Given the description of an element on the screen output the (x, y) to click on. 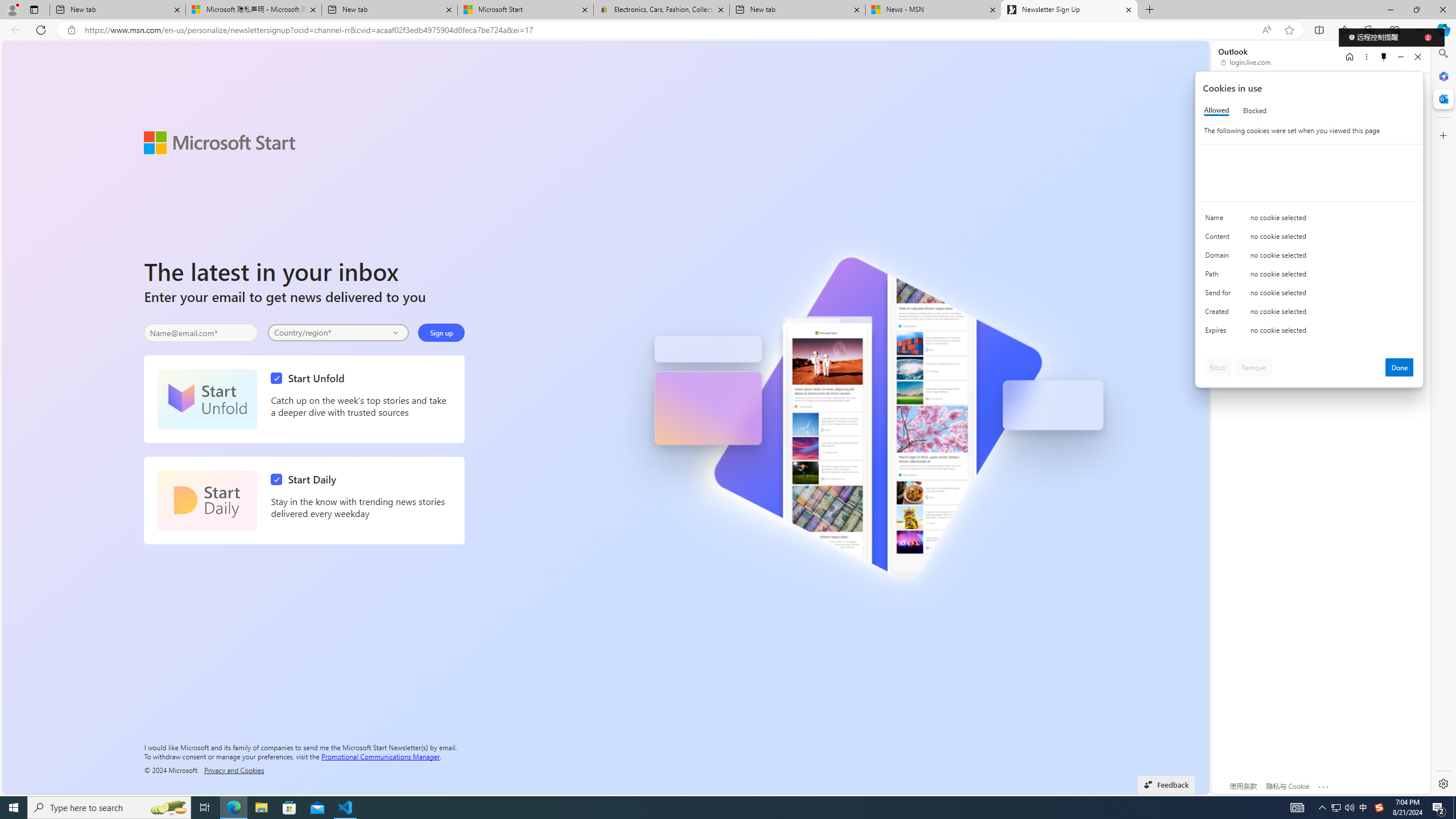
Unpin side pane (1383, 56)
no cookie selected (1331, 332)
Privacy and Cookies (233, 769)
Expires (1219, 332)
